Given the description of an element on the screen output the (x, y) to click on. 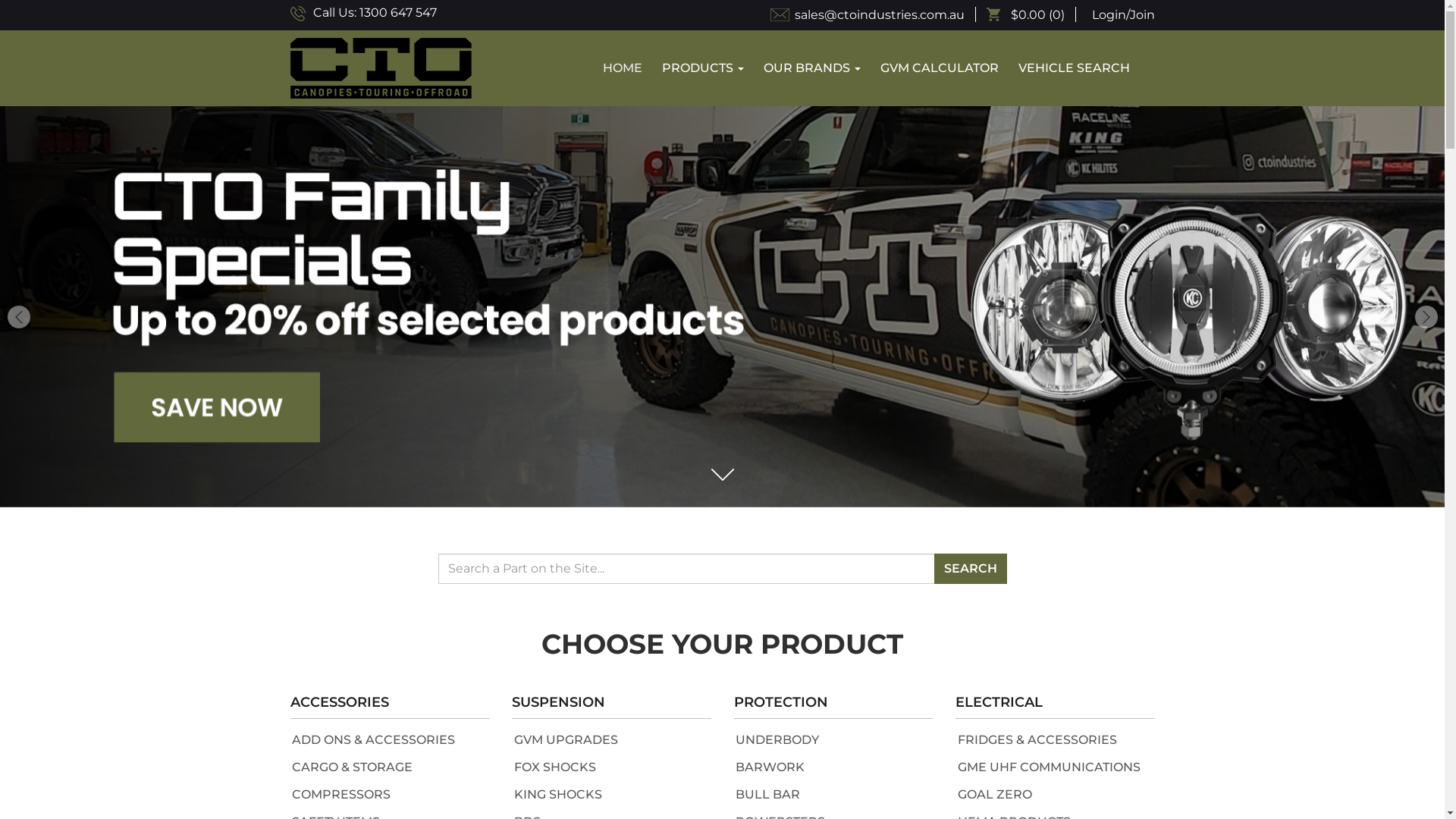
SUSPENSION Element type: text (611, 704)
PROTECTION Element type: text (833, 704)
BULL BAR Element type: text (767, 794)
Previous Element type: hover (18, 316)
Canopies Touring Offroad Element type: hover (379, 67)
Call Us Element type: hover (296, 13)
Login/Join Element type: text (1122, 15)
$0.00 (0) Element type: text (1030, 15)
Next Element type: hover (1426, 316)
GME UHF COMMUNICATIONS Element type: text (1048, 766)
FOX SHOCKS Element type: text (555, 766)
ADD ONS & ACCESSORIES Element type: text (373, 739)
COMPRESSORS Element type: text (340, 794)
UNDERBODY Element type: text (777, 739)
BARWORK Element type: text (769, 766)
ACCESSORIES Element type: text (389, 704)
ELECTRICAL Element type: text (1054, 704)
SEARCH Element type: text (970, 568)
Next Element type: hover (1426, 302)
1300 647 547 Element type: text (397, 12)
Next Element type: hover (18, 302)
PRODUCTS Element type: text (702, 67)
KING SHOCKS Element type: text (558, 794)
OUR BRANDS Element type: text (812, 67)
GOAL ZERO Element type: text (994, 794)
GVM CALCULATOR Element type: text (939, 67)
FRIDGES & ACCESSORIES Element type: text (1036, 739)
GVM UPGRADES Element type: text (566, 739)
CARGO & STORAGE Element type: text (351, 766)
VEHICLE SEARCH Element type: text (1074, 67)
sales@ctoindustries.com.au Element type: text (872, 15)
HOME Element type: text (622, 67)
